Given the description of an element on the screen output the (x, y) to click on. 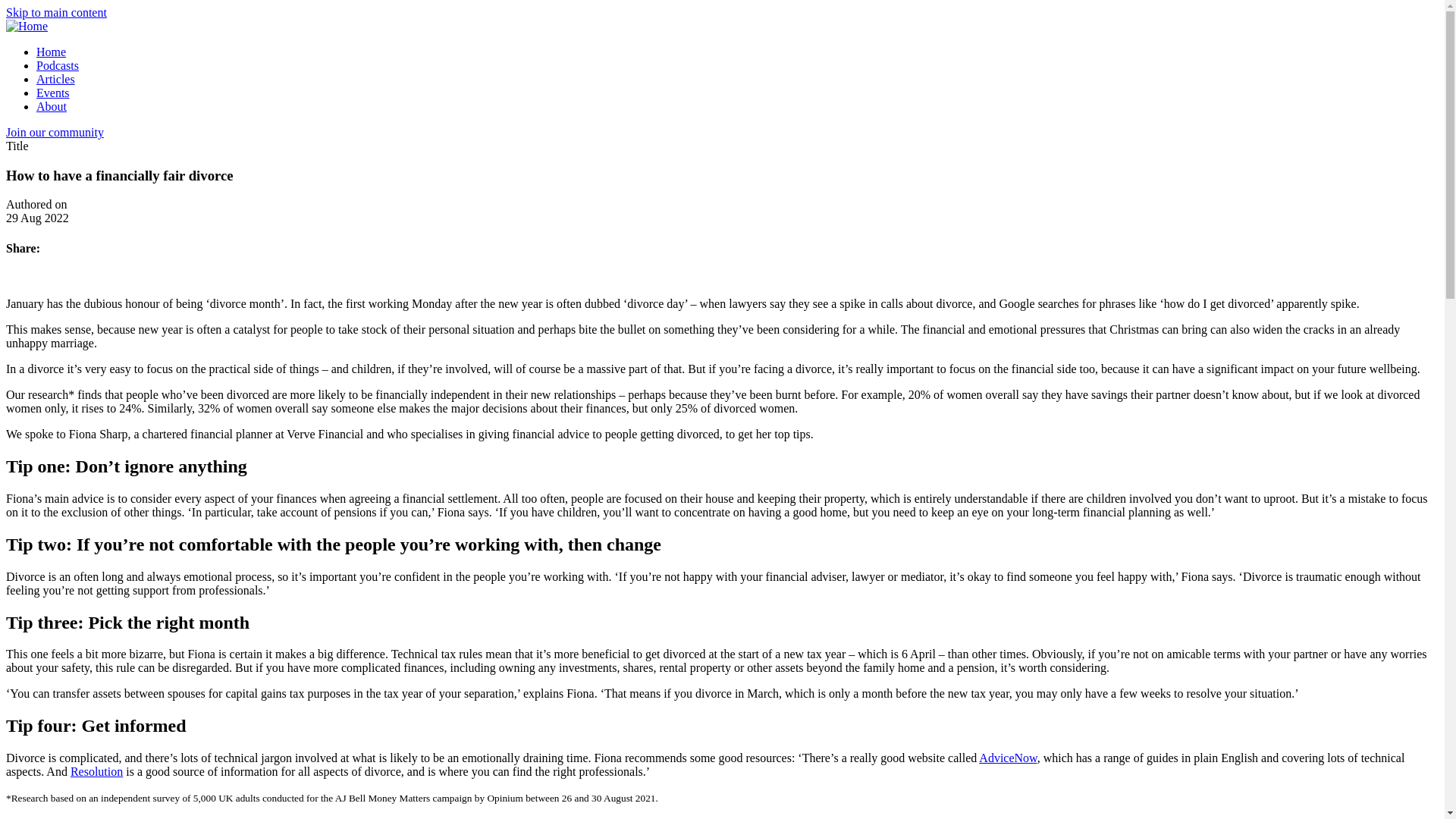
Podcasts (57, 65)
About (51, 106)
Events (52, 92)
AdviceNow (1007, 757)
Skip to main content (55, 11)
Resolution (95, 771)
Events (52, 92)
Home (50, 51)
Join our community (54, 132)
Articles (55, 78)
